Given the description of an element on the screen output the (x, y) to click on. 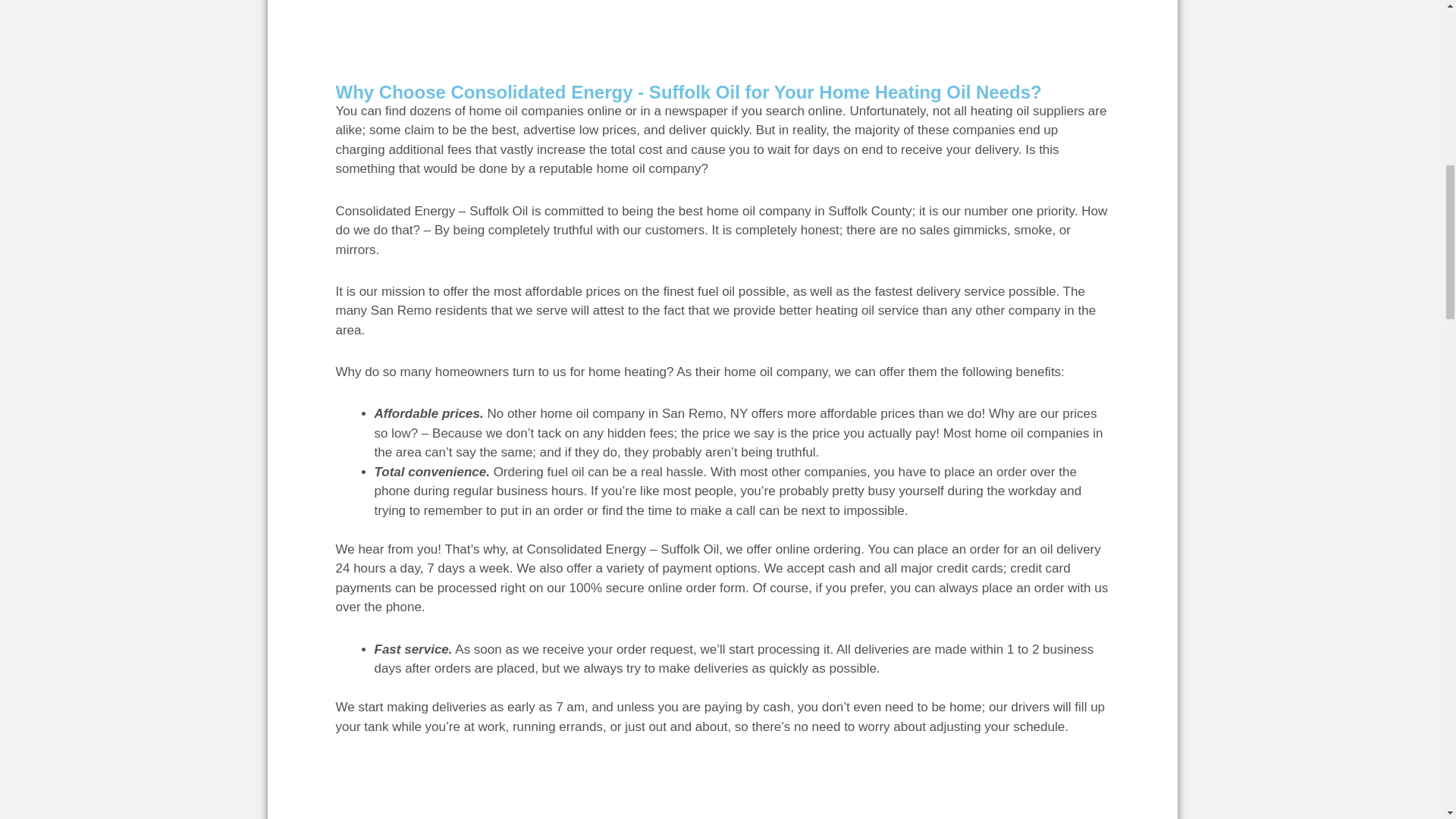
Heating,Fuel,Oil,Tank,Beside,Exterior,Wall. (896, 20)
